Given the description of an element on the screen output the (x, y) to click on. 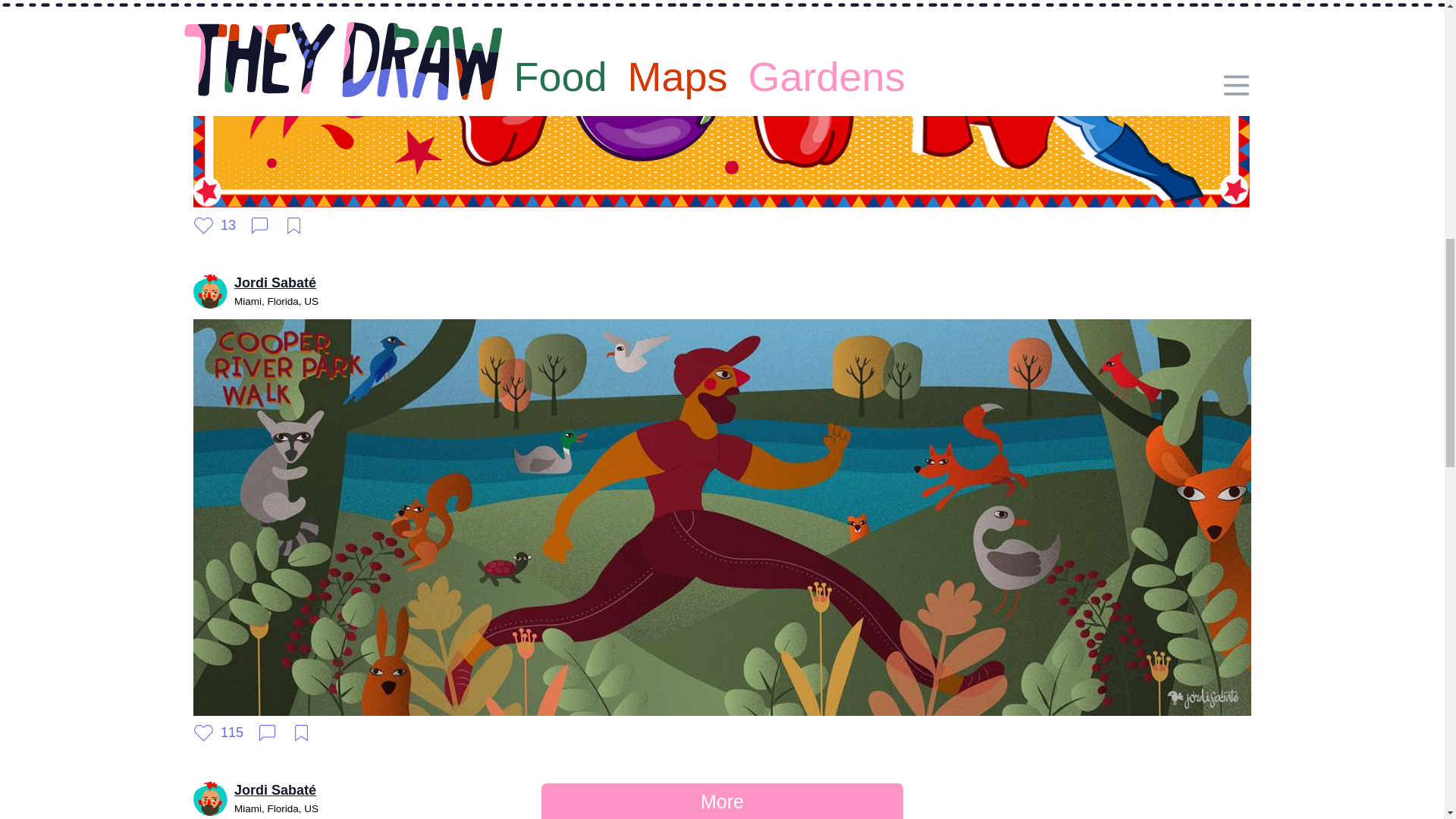
13 (214, 225)
115 (218, 732)
Give Heart (218, 732)
Add to Favorites (293, 225)
Give Heart (214, 225)
Add to Favorites (301, 732)
